Given the description of an element on the screen output the (x, y) to click on. 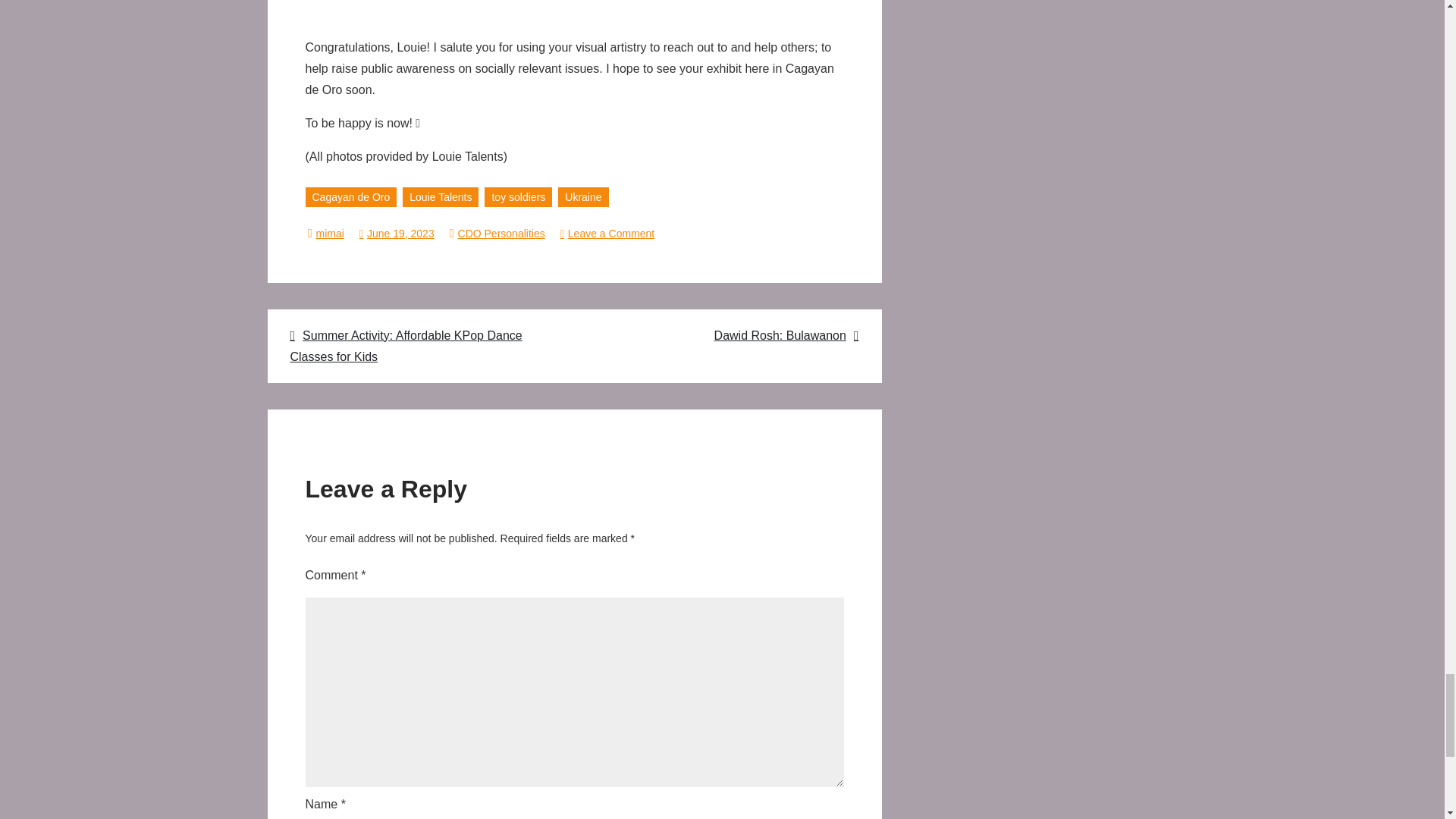
toy soldiers (517, 196)
Cagayan de Oro (350, 196)
Summer Activity: Affordable KPop Dance Classes for Kids (421, 345)
Ukraine (582, 196)
Louie Talents (441, 196)
CDO Personalities (501, 233)
mimai (329, 233)
Dawid Rosh: Bulawanon (725, 335)
June 19, 2023 (396, 233)
